Given the description of an element on the screen output the (x, y) to click on. 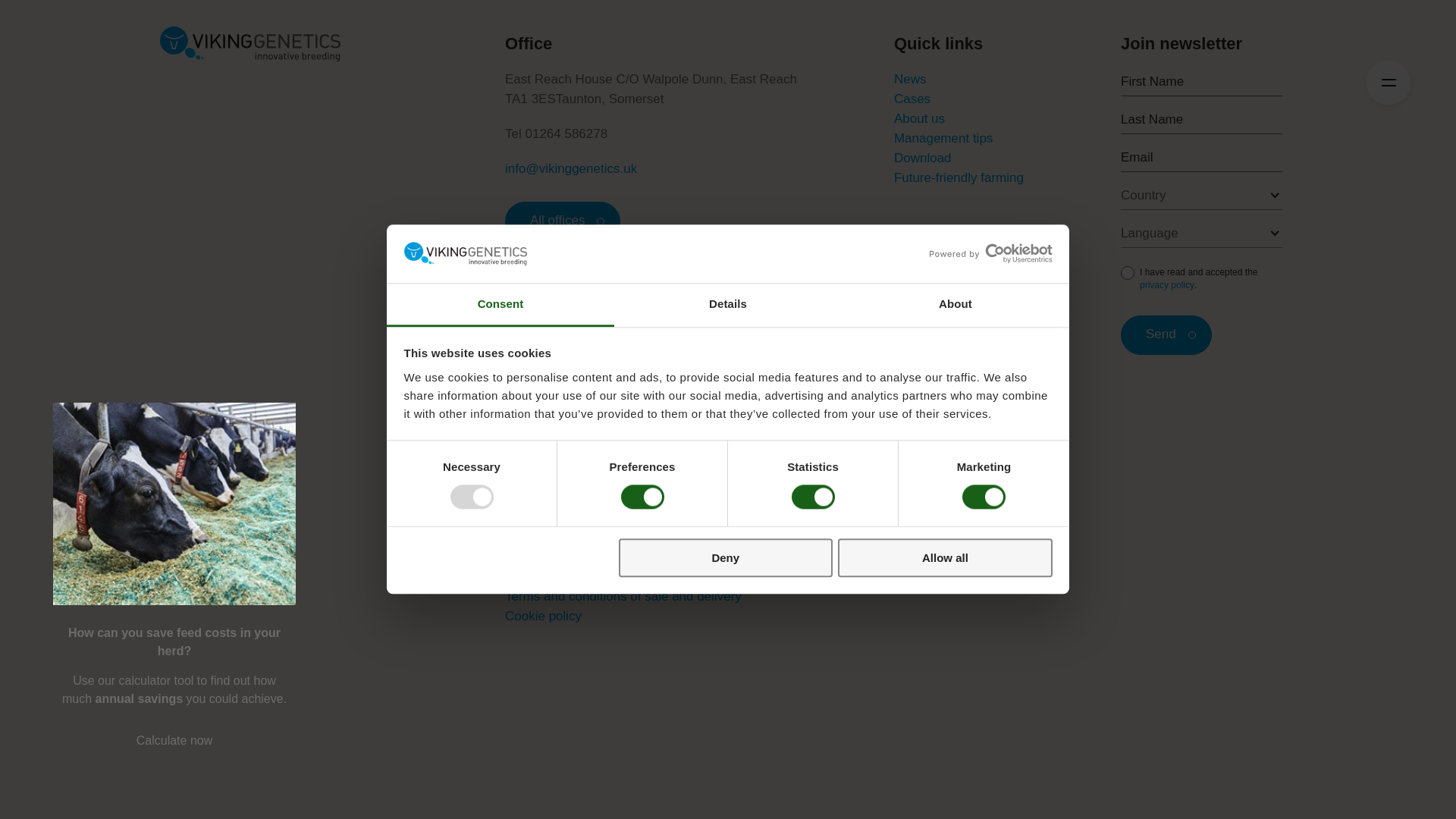
Viking Genetics - innovative breeding (249, 43)
